Given the description of an element on the screen output the (x, y) to click on. 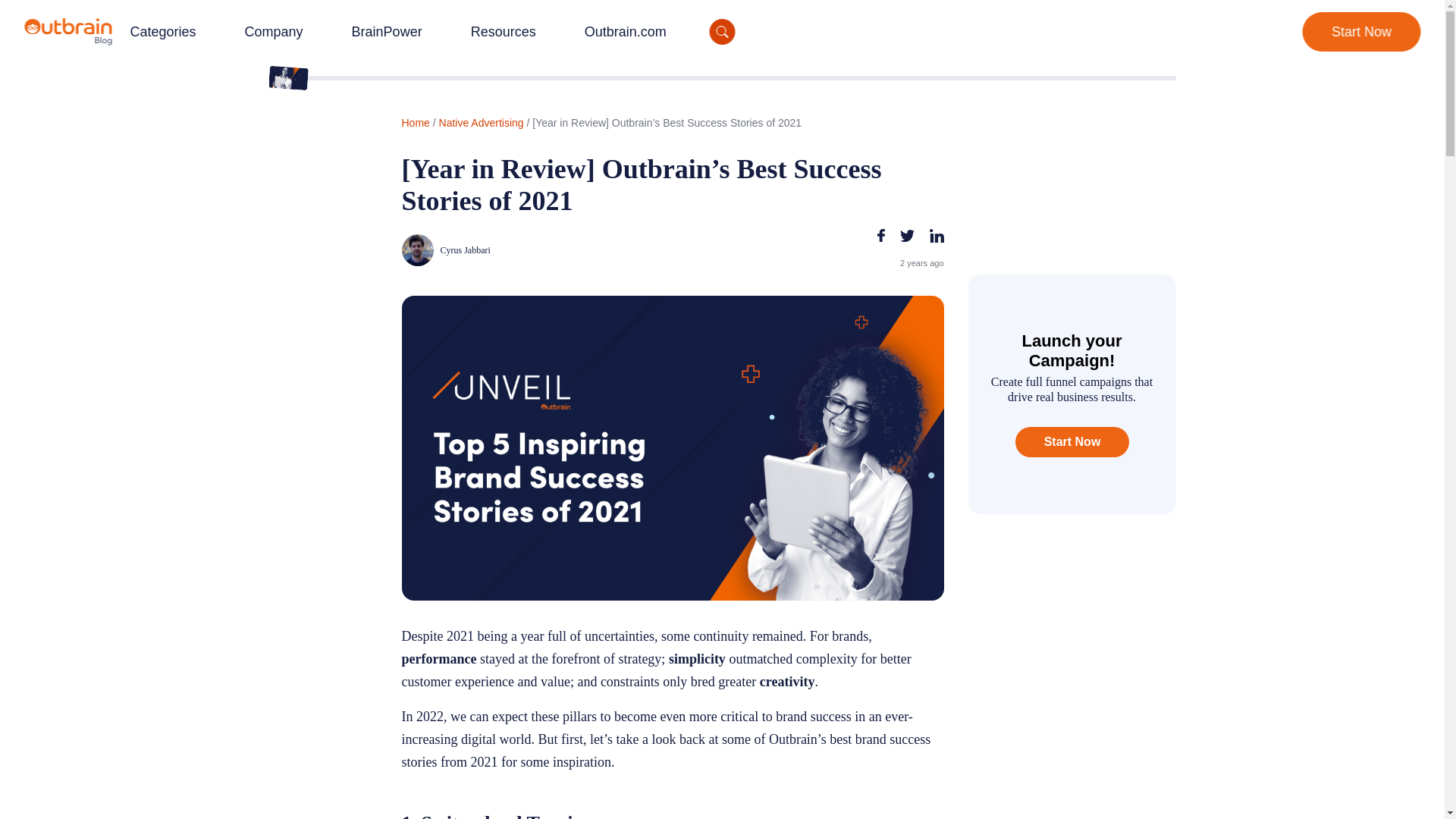
Start Now (1361, 31)
Resources (502, 31)
Company (272, 31)
Outbrain.com (625, 31)
Home (415, 122)
Native Advertising (481, 122)
Cyrus Jabbari (534, 250)
Cyrus Jabbari (534, 250)
Categories (162, 31)
BrainPower (386, 31)
